Given the description of an element on the screen output the (x, y) to click on. 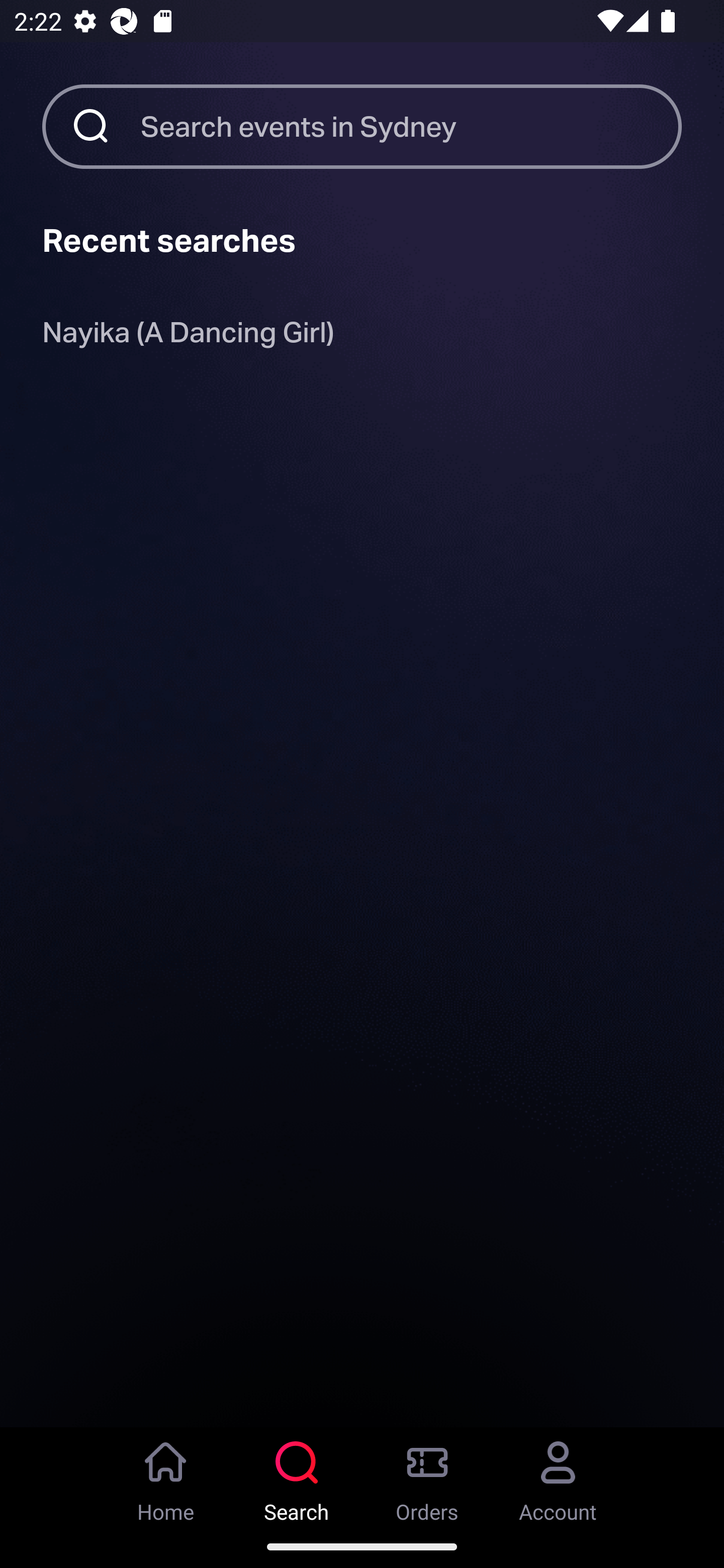
Search events in Sydney (411, 126)
Nayika (A Dancing Girl) (187, 336)
Home (165, 1475)
Orders (427, 1475)
Account (558, 1475)
